Given the description of an element on the screen output the (x, y) to click on. 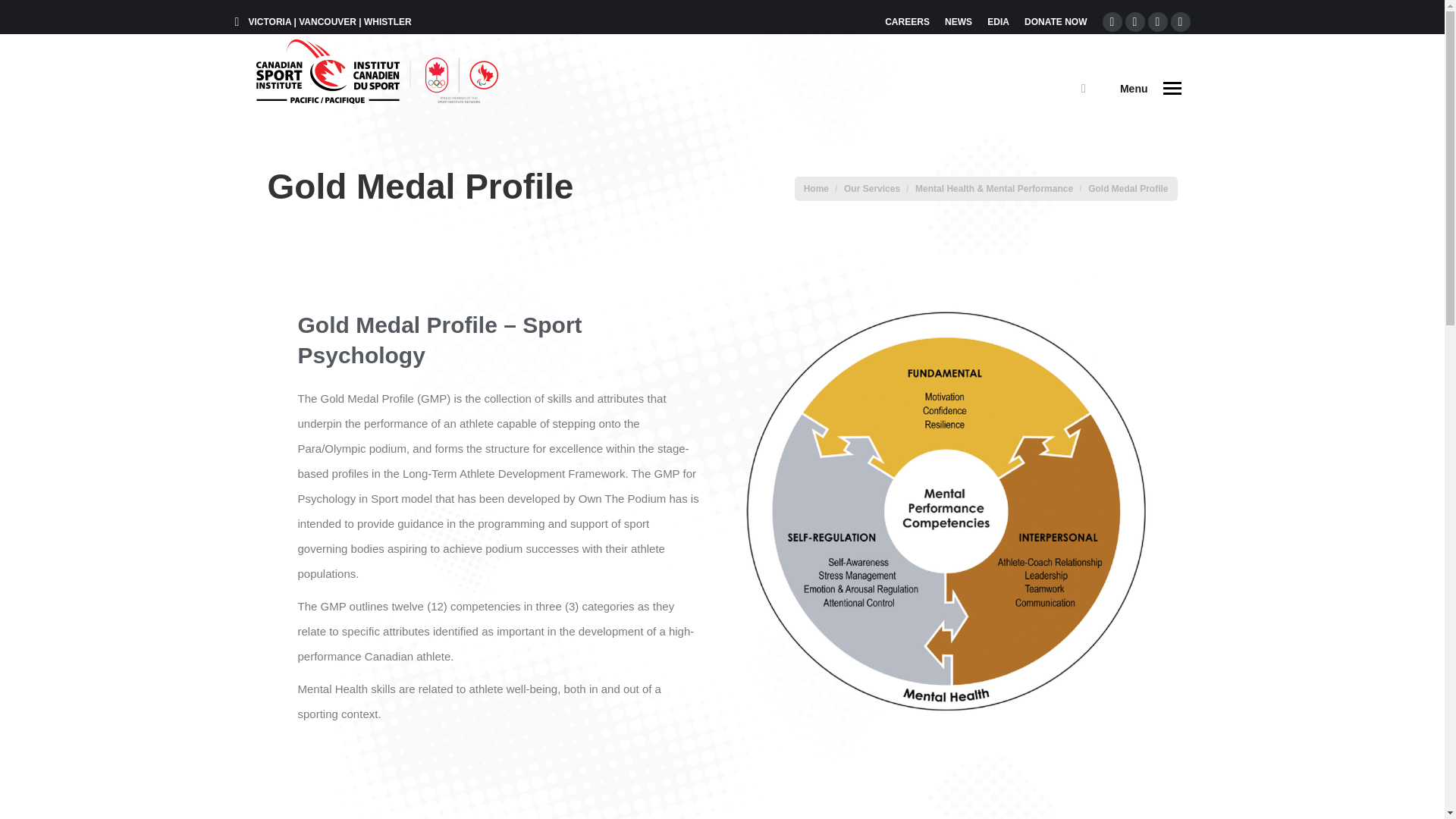
Instagram page opens in new window (1157, 21)
Facebook page opens in new window (1112, 21)
X page opens in new window (1134, 21)
YouTube page opens in new window (1180, 21)
